Given the description of an element on the screen output the (x, y) to click on. 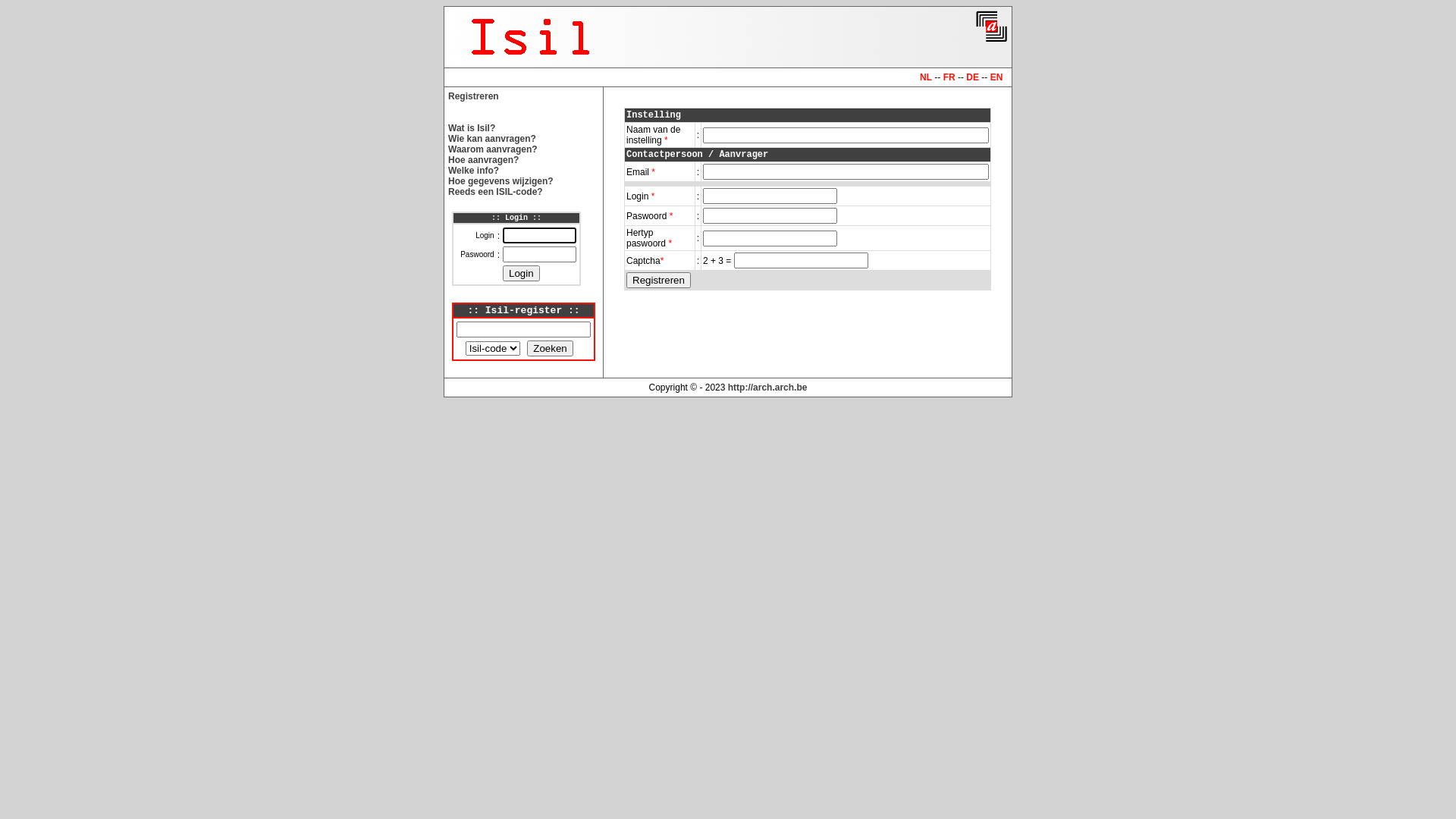
Hoe aanvragen? Element type: text (483, 159)
Waarom aanvragen? Element type: text (492, 149)
Registreren Element type: text (658, 280)
Login Element type: text (520, 273)
FR Element type: text (949, 77)
http://arch.arch.be Element type: text (767, 387)
EN Element type: text (996, 77)
Hoe gegevens wijzigen? Element type: text (500, 180)
Zoeken Element type: text (549, 348)
DE Element type: text (972, 77)
NL Element type: text (925, 77)
Welke info? Element type: text (473, 170)
Wat is Isil? Element type: text (471, 127)
Registreren Element type: text (473, 96)
Reeds een ISIL-code? Element type: text (495, 191)
Wie kan aanvragen? Element type: text (492, 138)
